Given the description of an element on the screen output the (x, y) to click on. 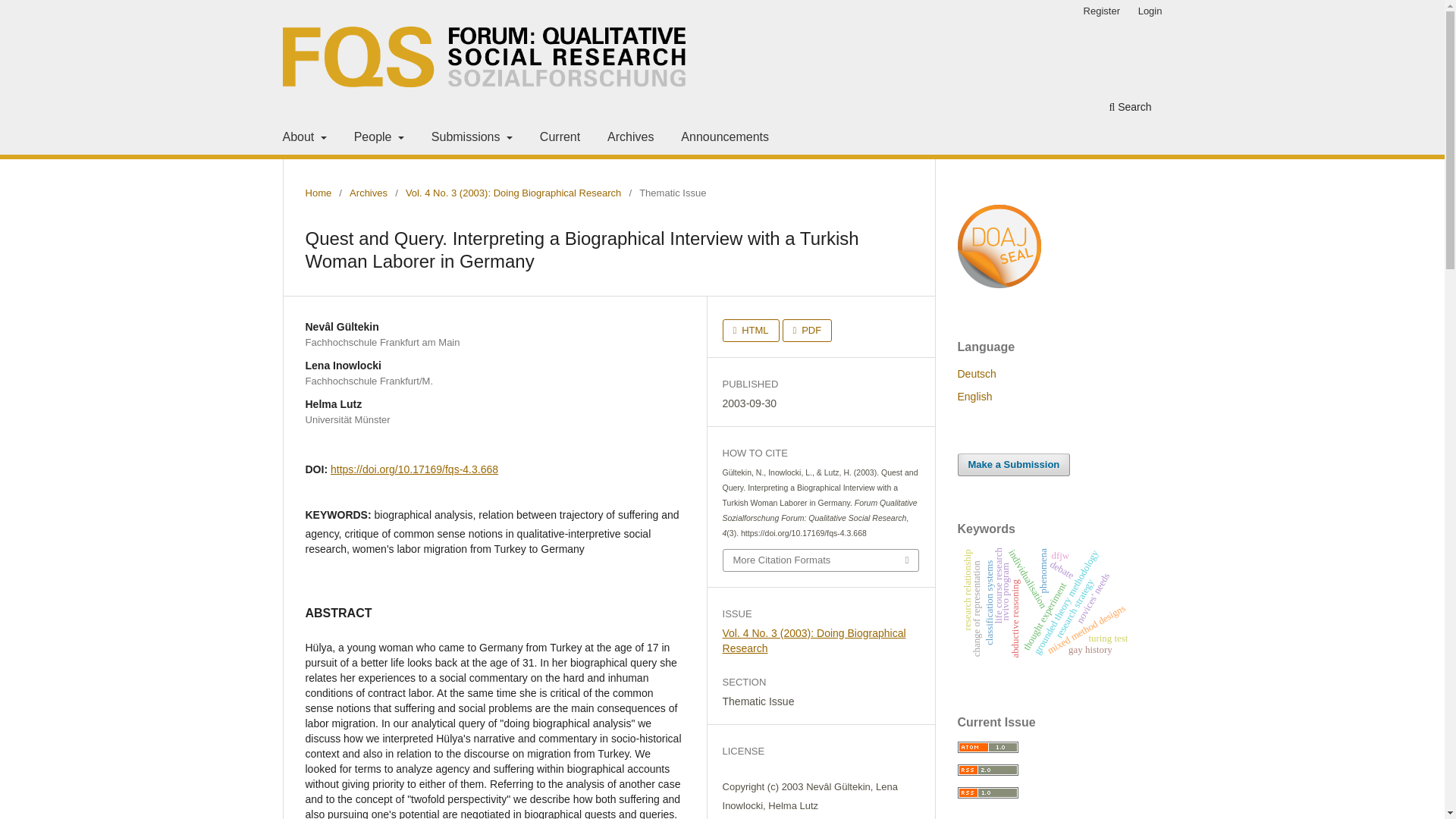
Login (1150, 11)
Announcements (724, 139)
More Citation Formats (820, 559)
HTML (750, 330)
Archives (368, 192)
Search (1129, 108)
About (303, 139)
Home (317, 192)
PDF (807, 330)
Archives (630, 139)
